Given the description of an element on the screen output the (x, y) to click on. 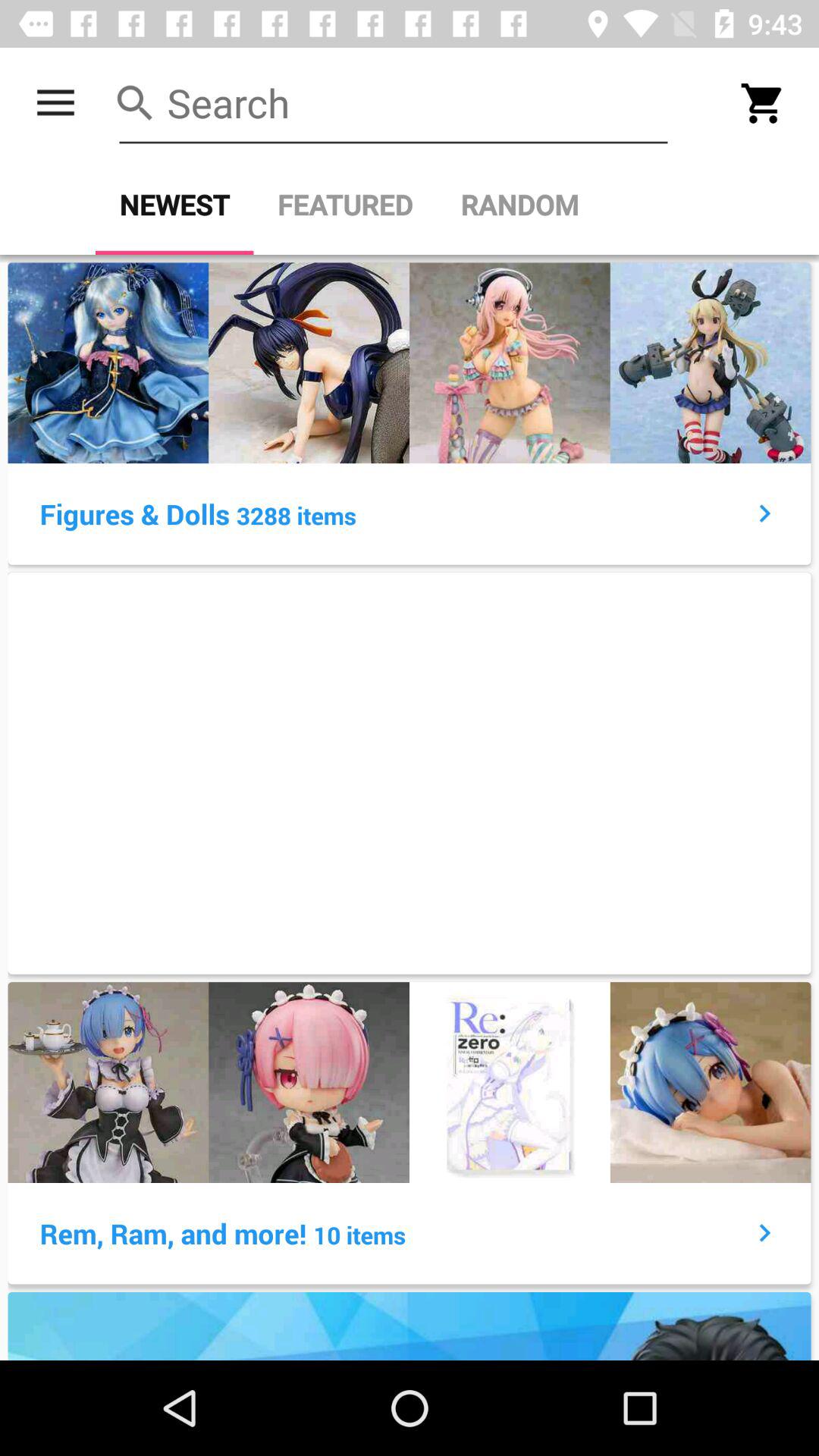
enter search term (393, 103)
